Given the description of an element on the screen output the (x, y) to click on. 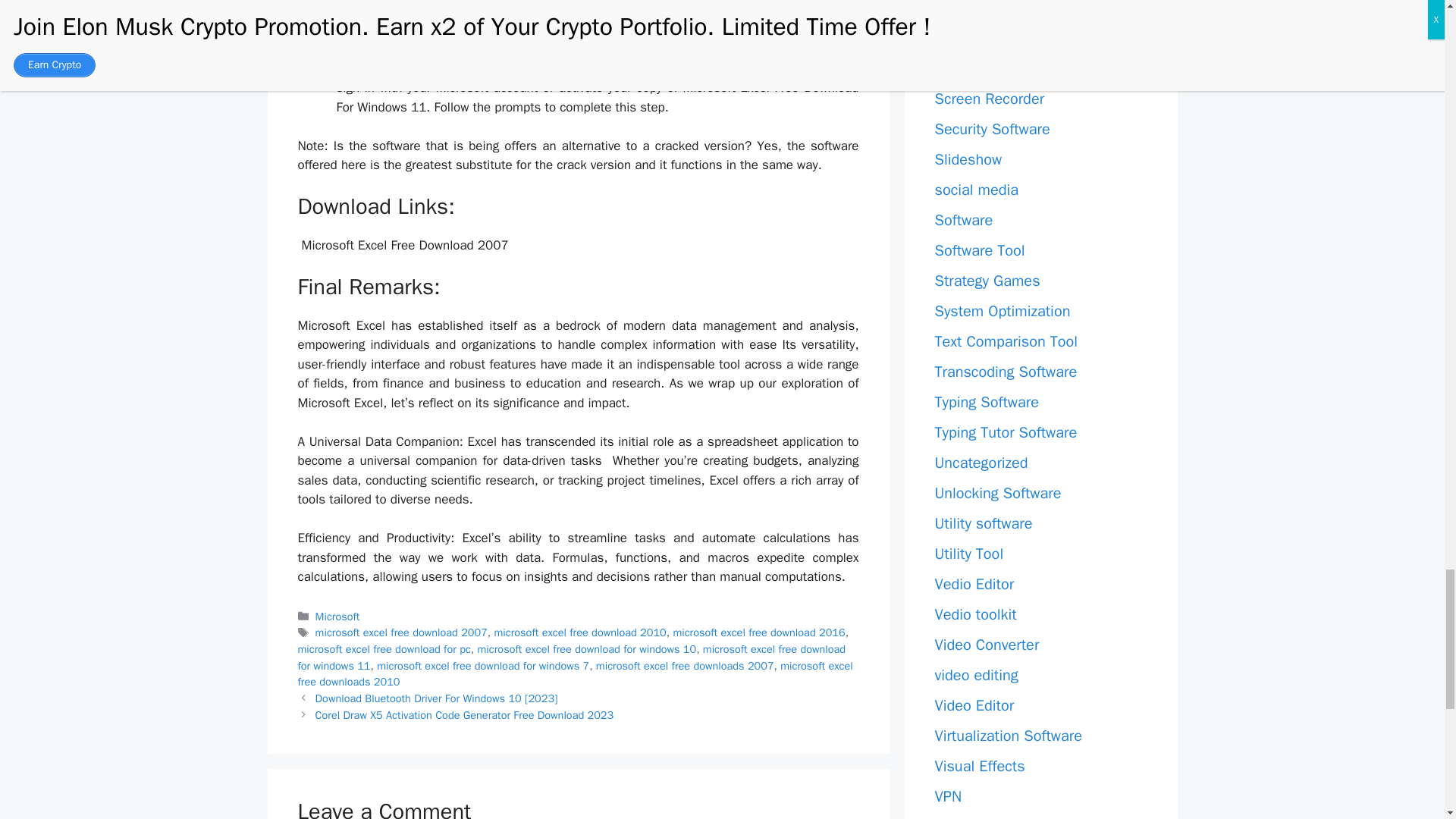
microsoft excel free download 2010 (580, 632)
Corel Draw X5 Activation Code Generator Free Download 2023 (464, 714)
Microsoft (337, 616)
microsoft excel free download for windows 7 (483, 665)
microsoft excel free download for pc (383, 649)
microsoft excel free downloads 2007 (684, 665)
microsoft excel free download for windows 11 (571, 657)
microsoft excel free download for windows 10 (587, 649)
microsoft excel free download 2007 (401, 632)
microsoft excel free downloads 2010 (574, 674)
microsoft excel free download 2016 (758, 632)
